Given the description of an element on the screen output the (x, y) to click on. 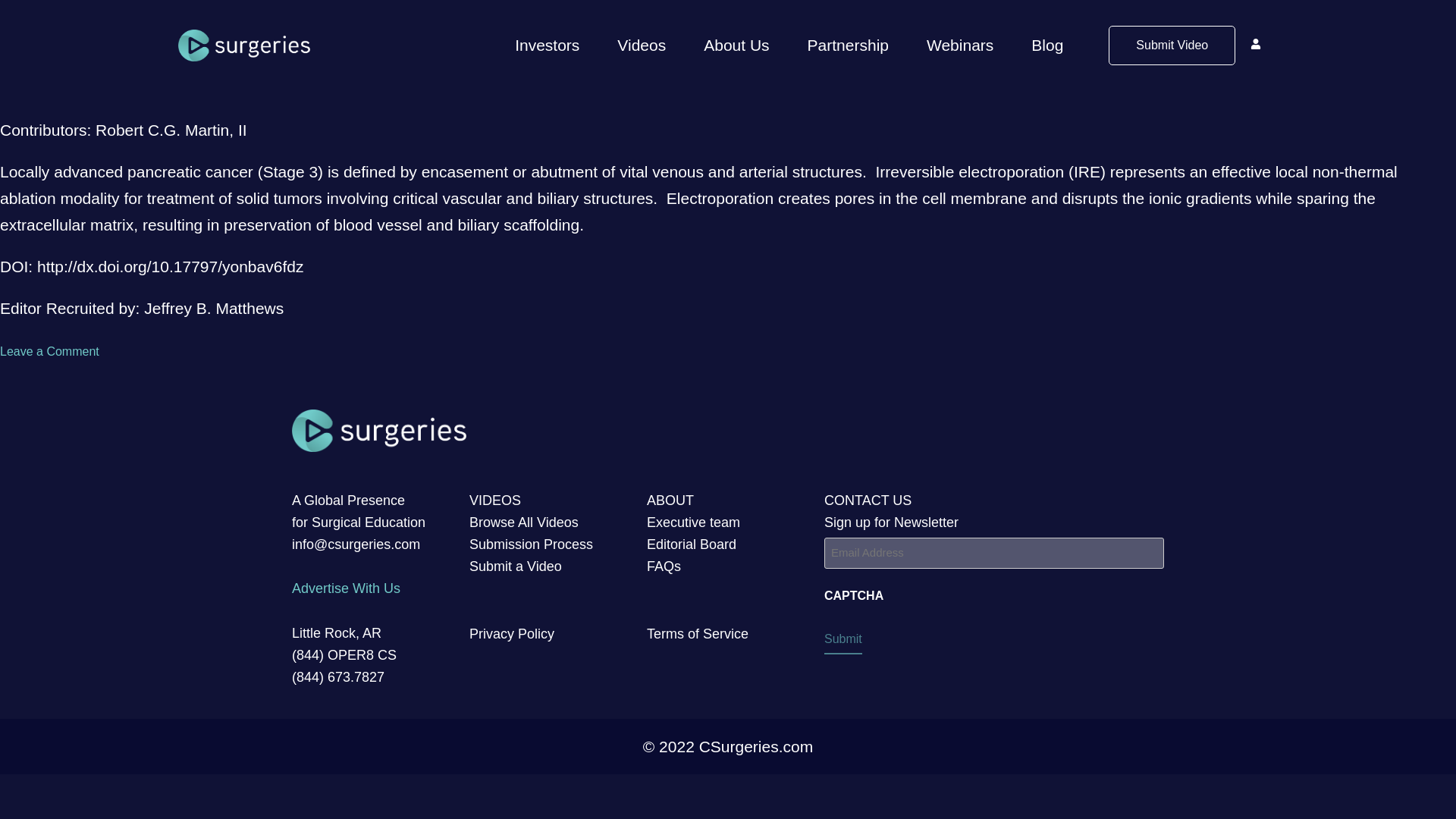
Browse All Videos (523, 522)
Submit (842, 642)
Submit Video (1171, 45)
Videos (641, 45)
Investors (546, 45)
Advertise With Us (346, 588)
Webinars (959, 45)
About Us (735, 45)
Blog (1046, 45)
Leave a Comment (49, 350)
